Given the description of an element on the screen output the (x, y) to click on. 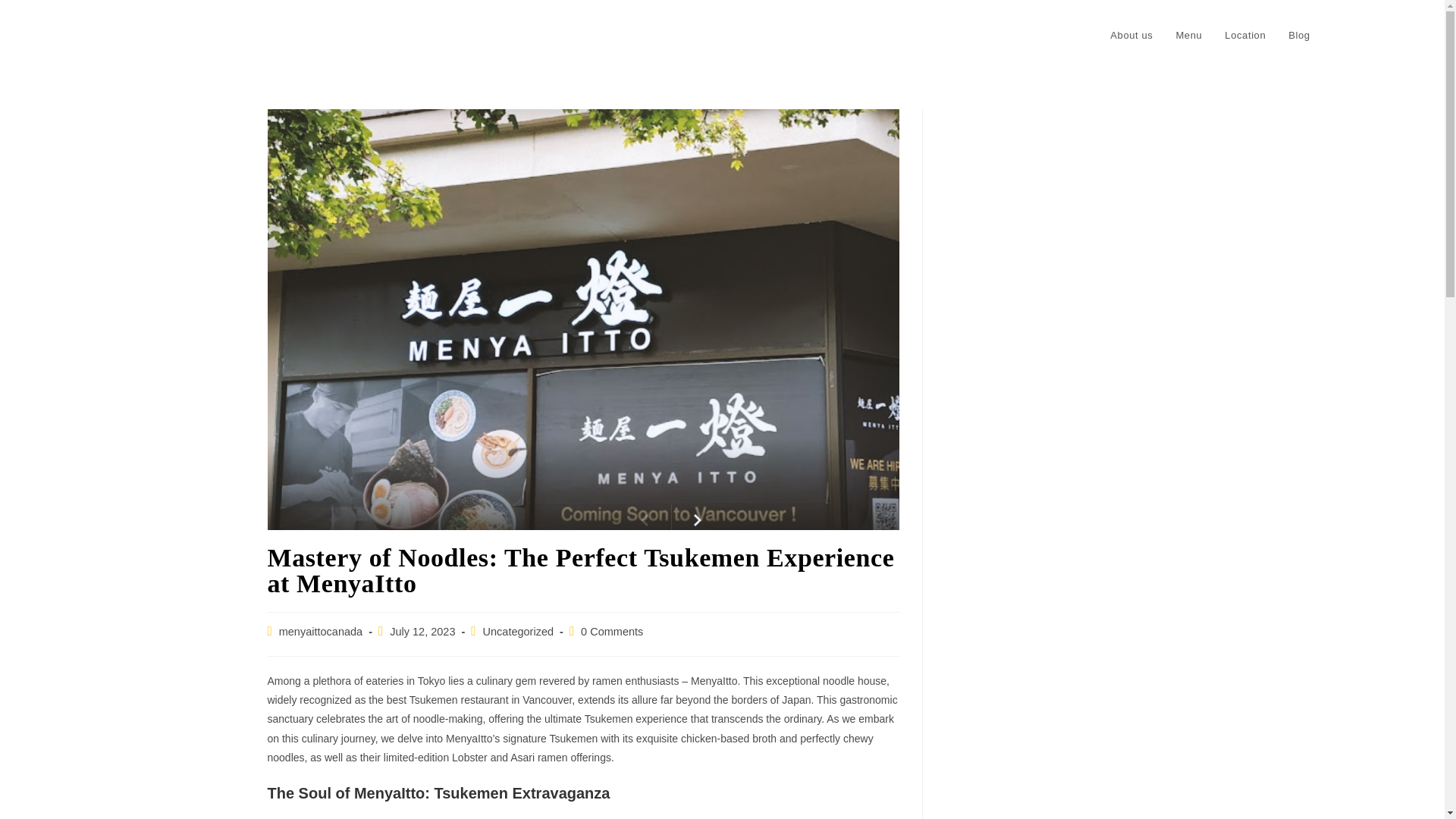
About us (1131, 35)
Posts by menyaittocanada (320, 631)
menyaittocanada (320, 631)
Blog (1298, 35)
Menu (1187, 35)
Location (1244, 35)
0 Comments (611, 631)
Uncategorized (518, 631)
